Given the description of an element on the screen output the (x, y) to click on. 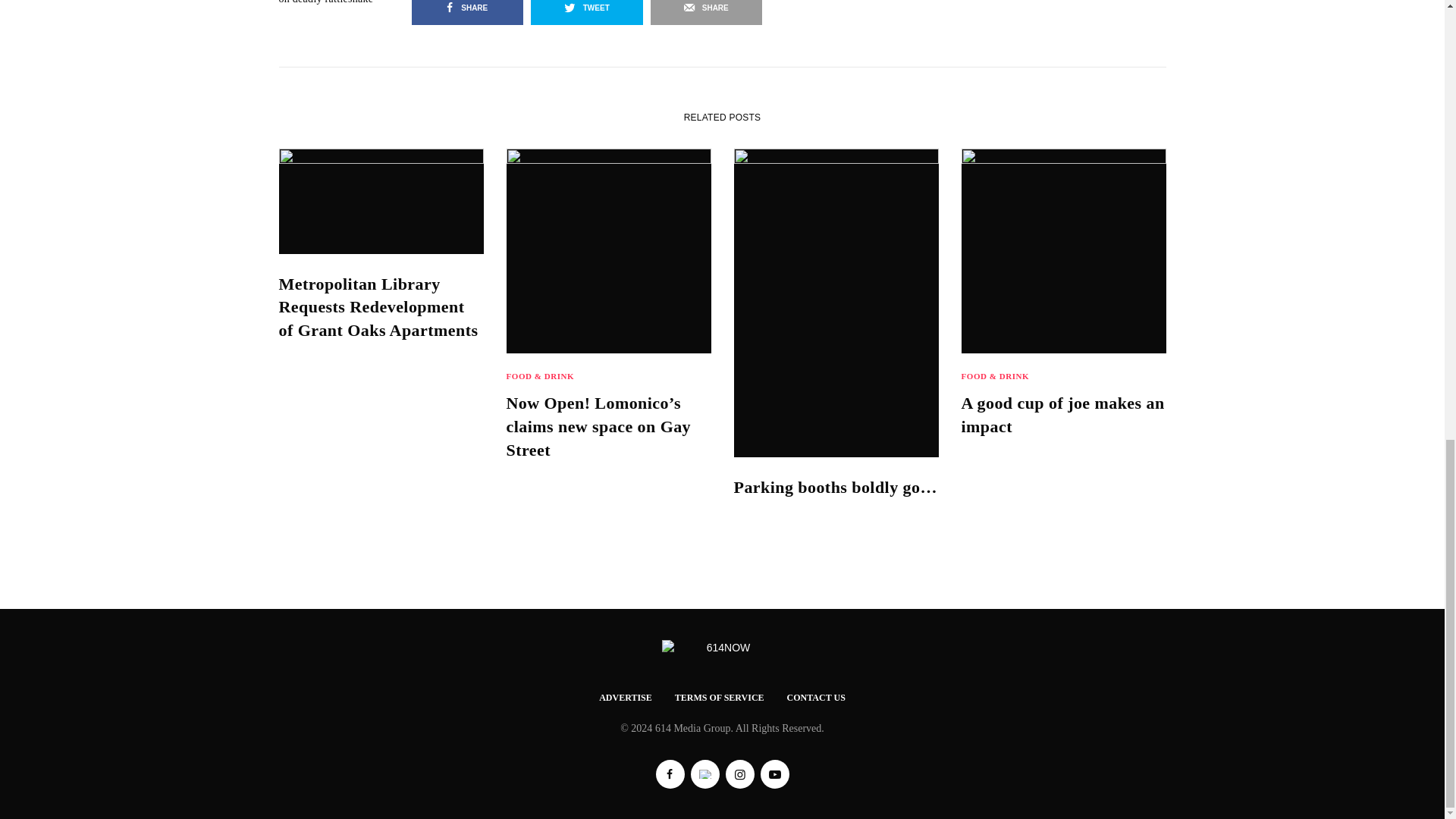
A good cup of joe makes an impact (1063, 415)
614NOW (722, 647)
